Given the description of an element on the screen output the (x, y) to click on. 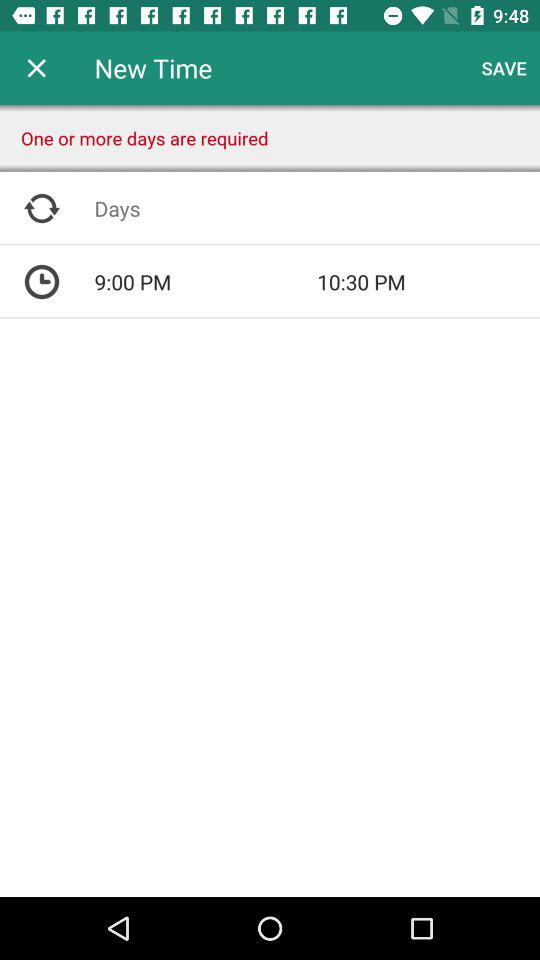
turn on item next to new time icon (504, 68)
